Given the description of an element on the screen output the (x, y) to click on. 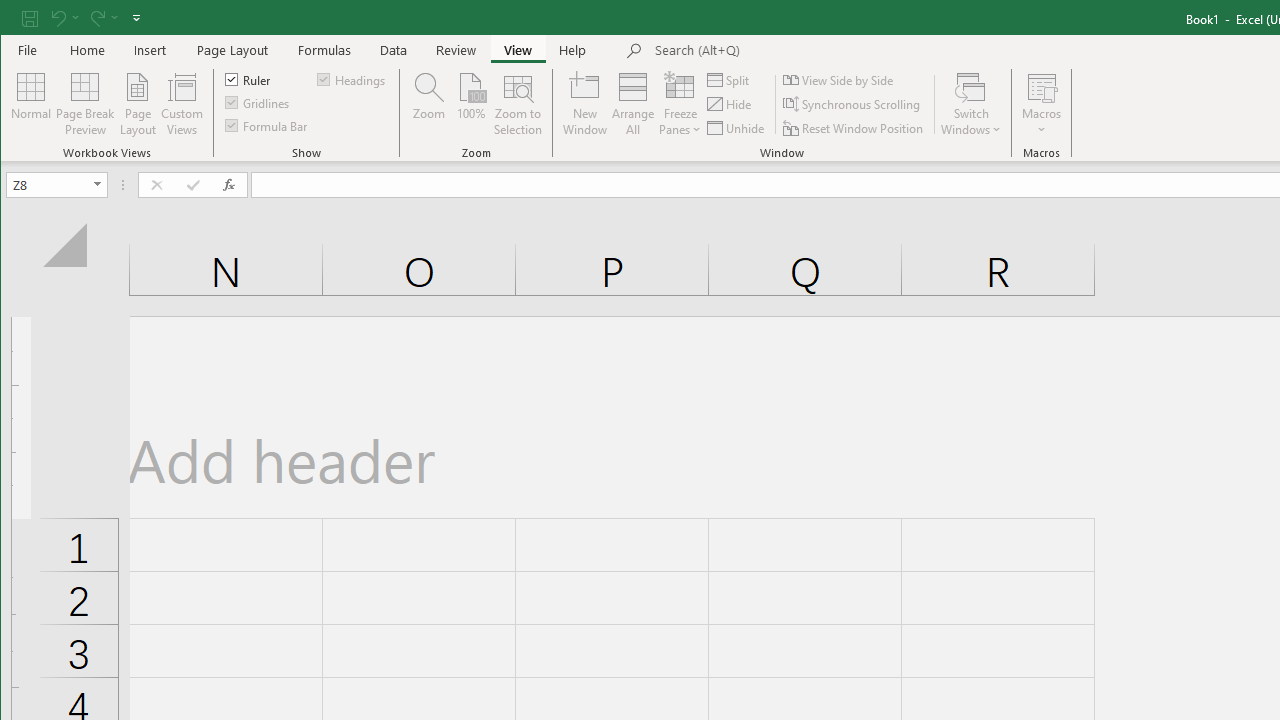
Split (730, 80)
Formulas (325, 50)
Home (87, 50)
Macros (1041, 104)
Arrange All (633, 104)
Open (98, 184)
Data (394, 50)
Microsoft search (794, 51)
Switch Windows (971, 104)
View (518, 50)
Help (573, 50)
Hide (730, 103)
Headings (352, 78)
More Options (1041, 123)
Save (29, 17)
